Given the description of an element on the screen output the (x, y) to click on. 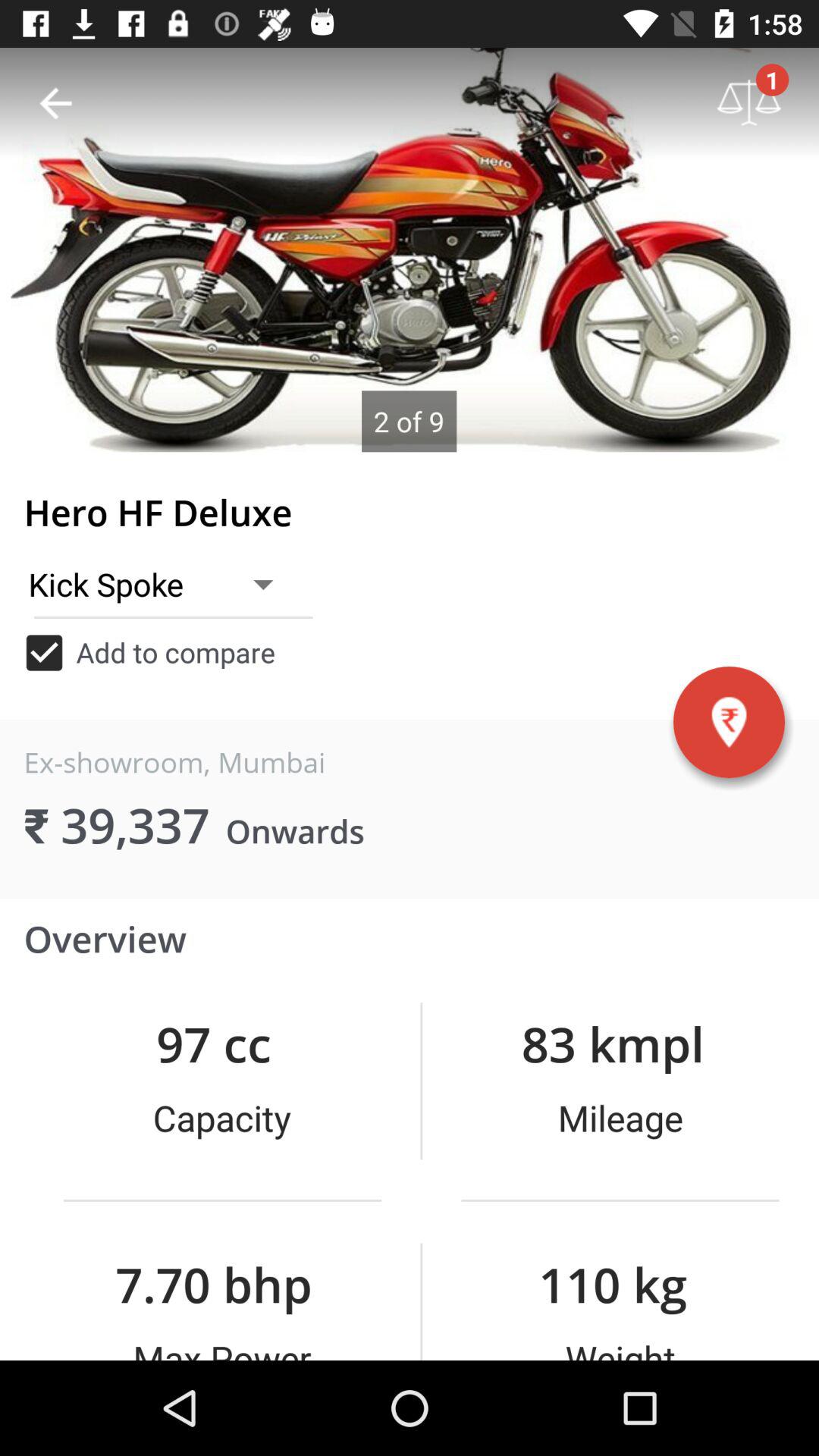
flip to add to compare (149, 652)
